Given the description of an element on the screen output the (x, y) to click on. 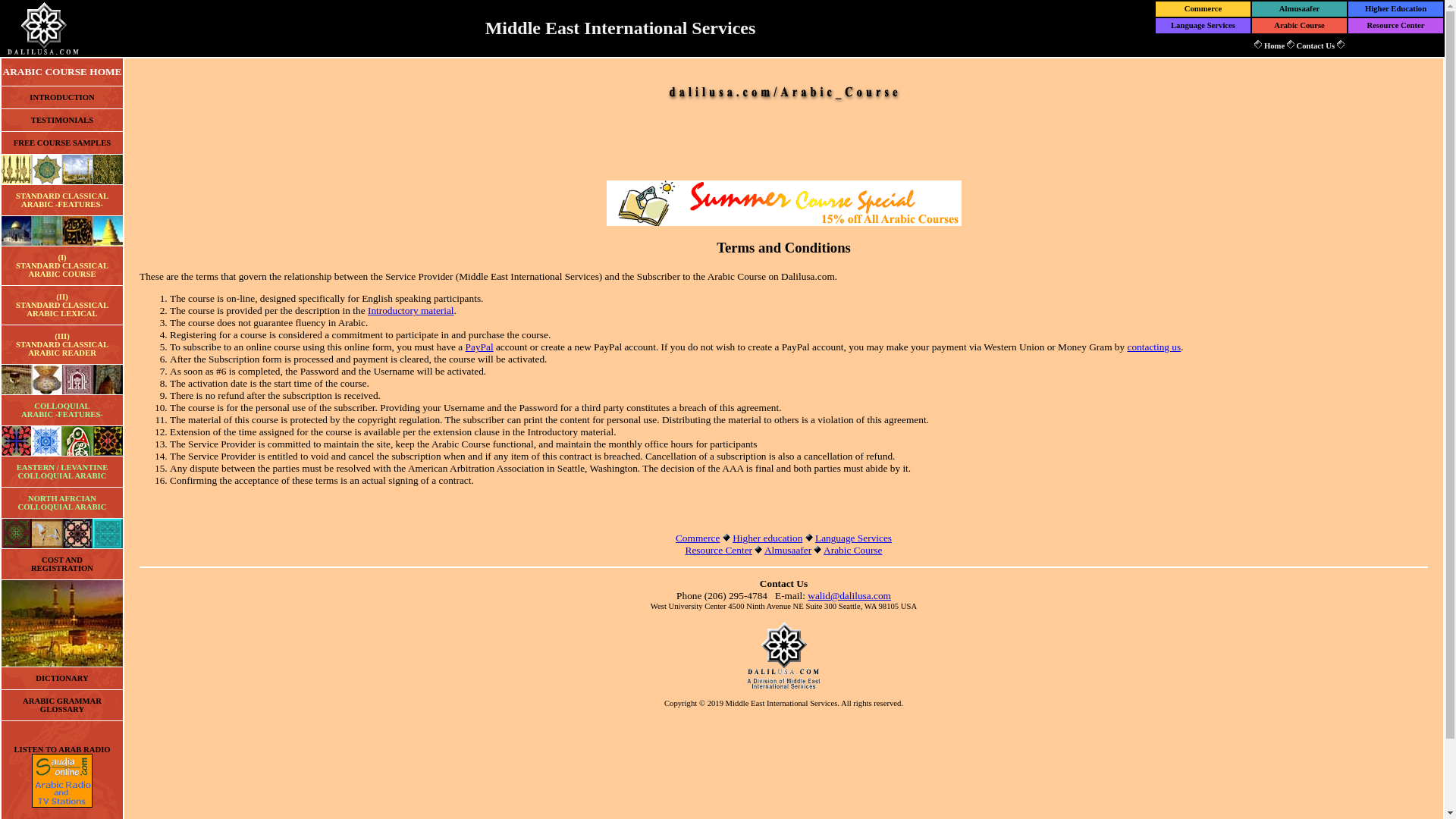
Almusaafer (1299, 8)
DICTIONARY (61, 678)
Almusaafer (787, 550)
Contact Us (1315, 45)
Language Services (853, 537)
Home (1273, 45)
contacting us (1153, 346)
Commerce (697, 537)
Arabic Course (1299, 25)
